Given the description of an element on the screen output the (x, y) to click on. 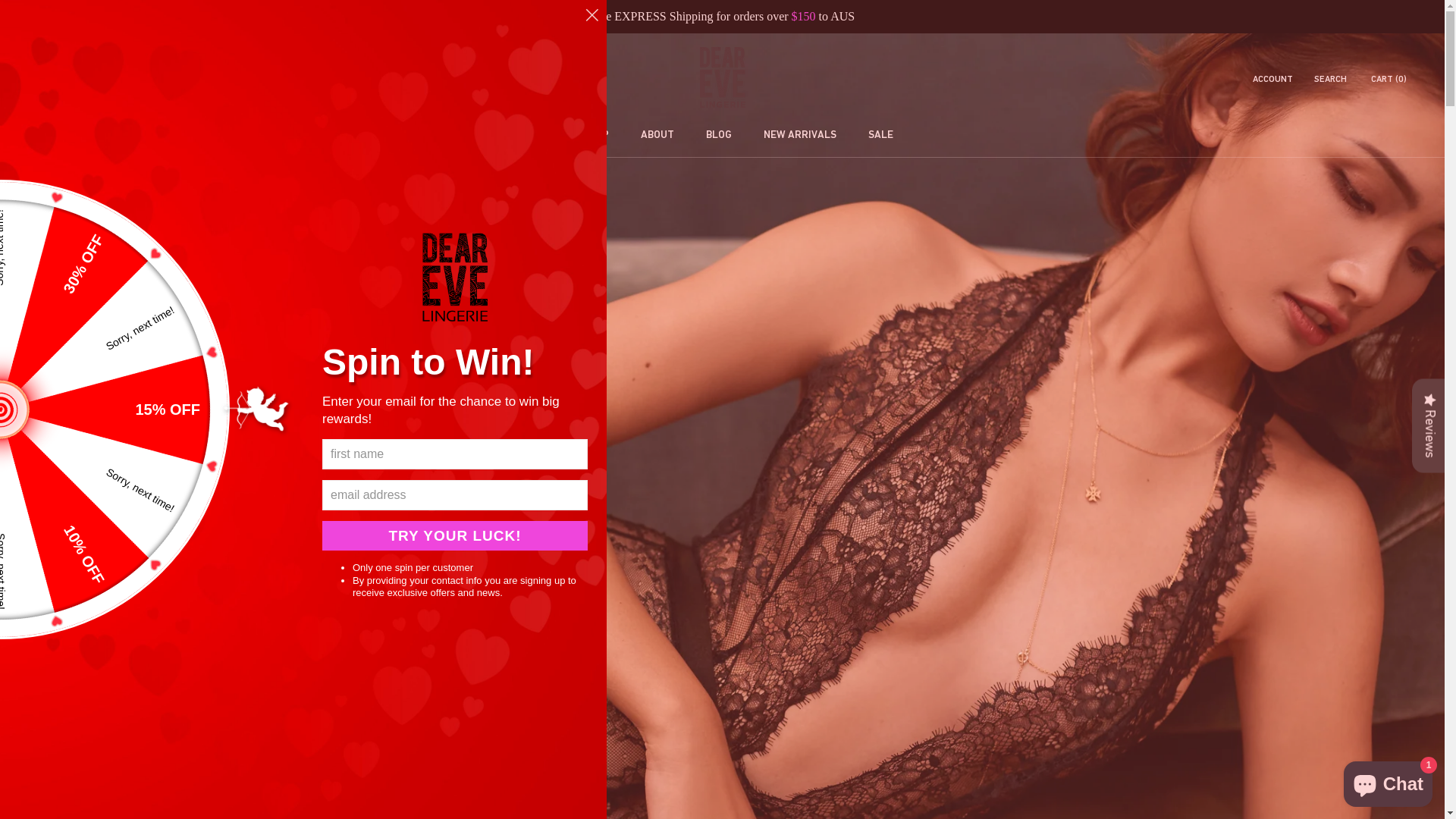
ABOUT
ABOUT Element type: text (641, 134)
Shopify online store chat Element type: hover (1388, 780)
SALE
SALE Element type: text (864, 134)
Free EXPRESS Shipping for orders over $150 to AUS Element type: text (722, 16)
ACCOUNT Element type: text (1272, 79)
SHOP
SHOP Element type: text (580, 134)
CART (0) Element type: text (1388, 78)
SEARCH Element type: text (1330, 79)
BLOG
BLOG Element type: text (702, 134)
NEW ARRIVALS
NEW ARRIVALS Element type: text (783, 134)
